Given the description of an element on the screen output the (x, y) to click on. 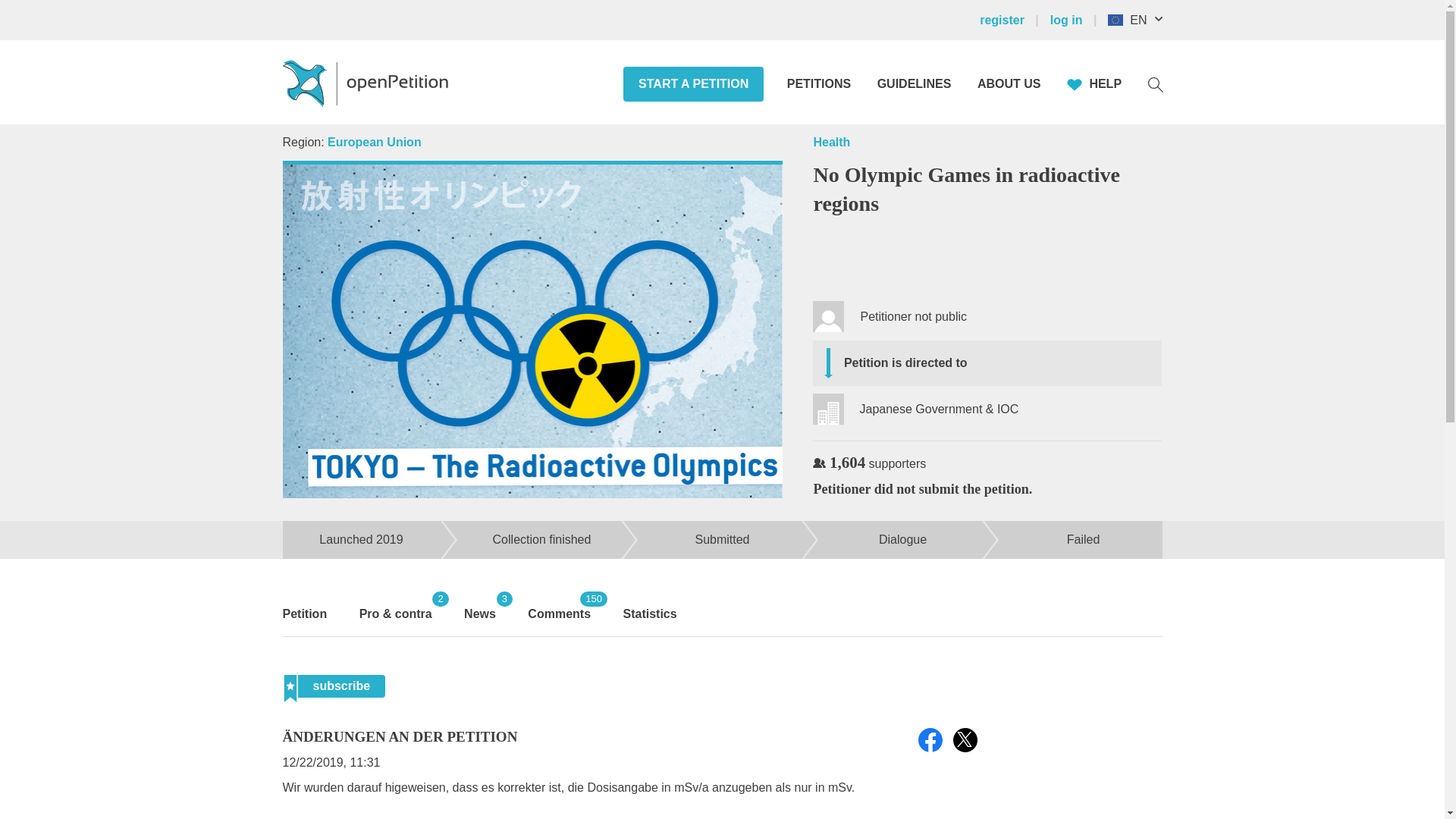
  EN (1142, 19)
register (1012, 19)
log in (1075, 19)
